Given the description of an element on the screen output the (x, y) to click on. 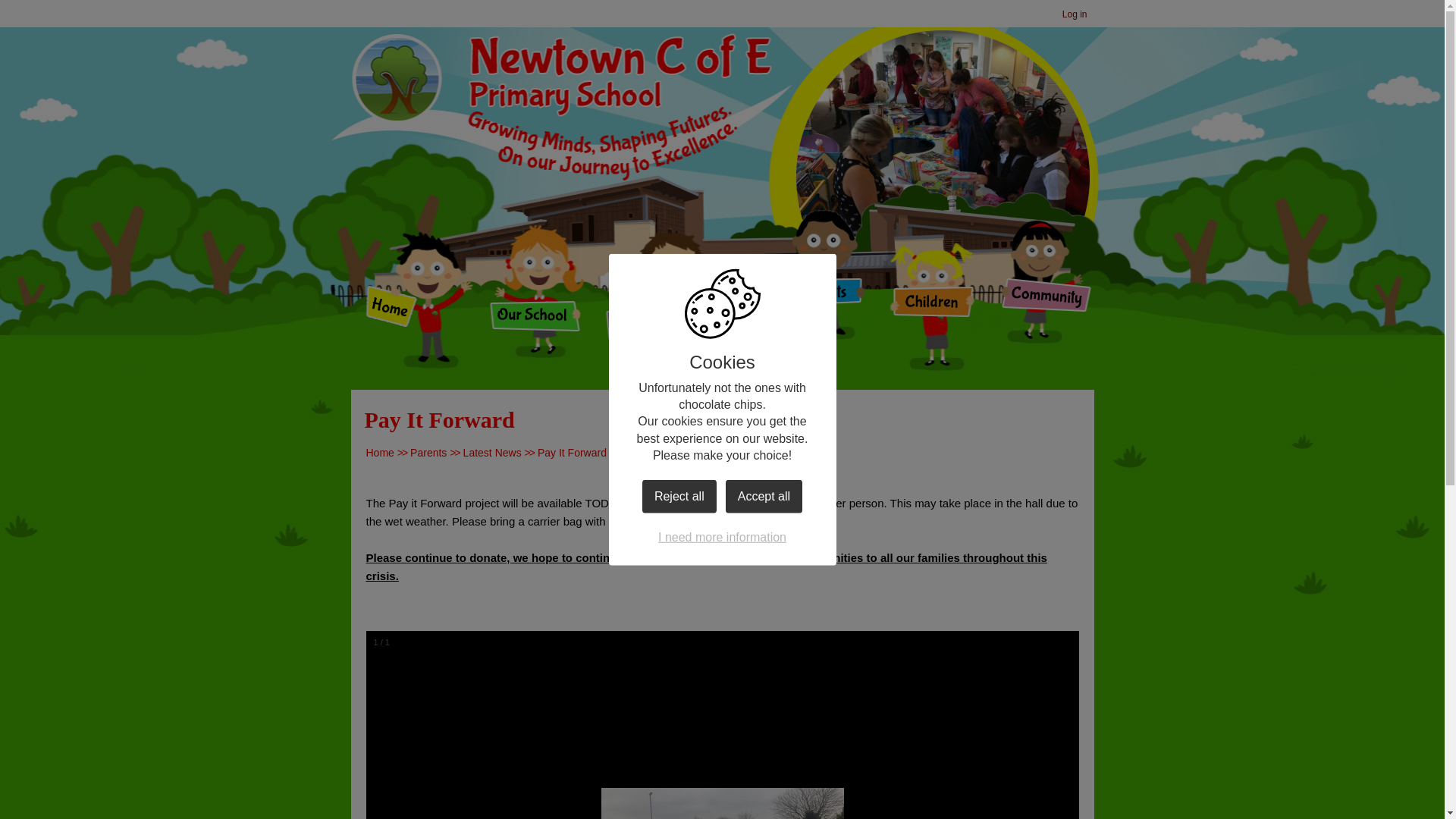
Pay It Forward (572, 452)
Home (390, 306)
Parents (428, 452)
Log in (1074, 14)
Home Page (561, 76)
Our School (532, 316)
Home Page (561, 76)
Home (379, 452)
Latest News (492, 452)
